Given the description of an element on the screen output the (x, y) to click on. 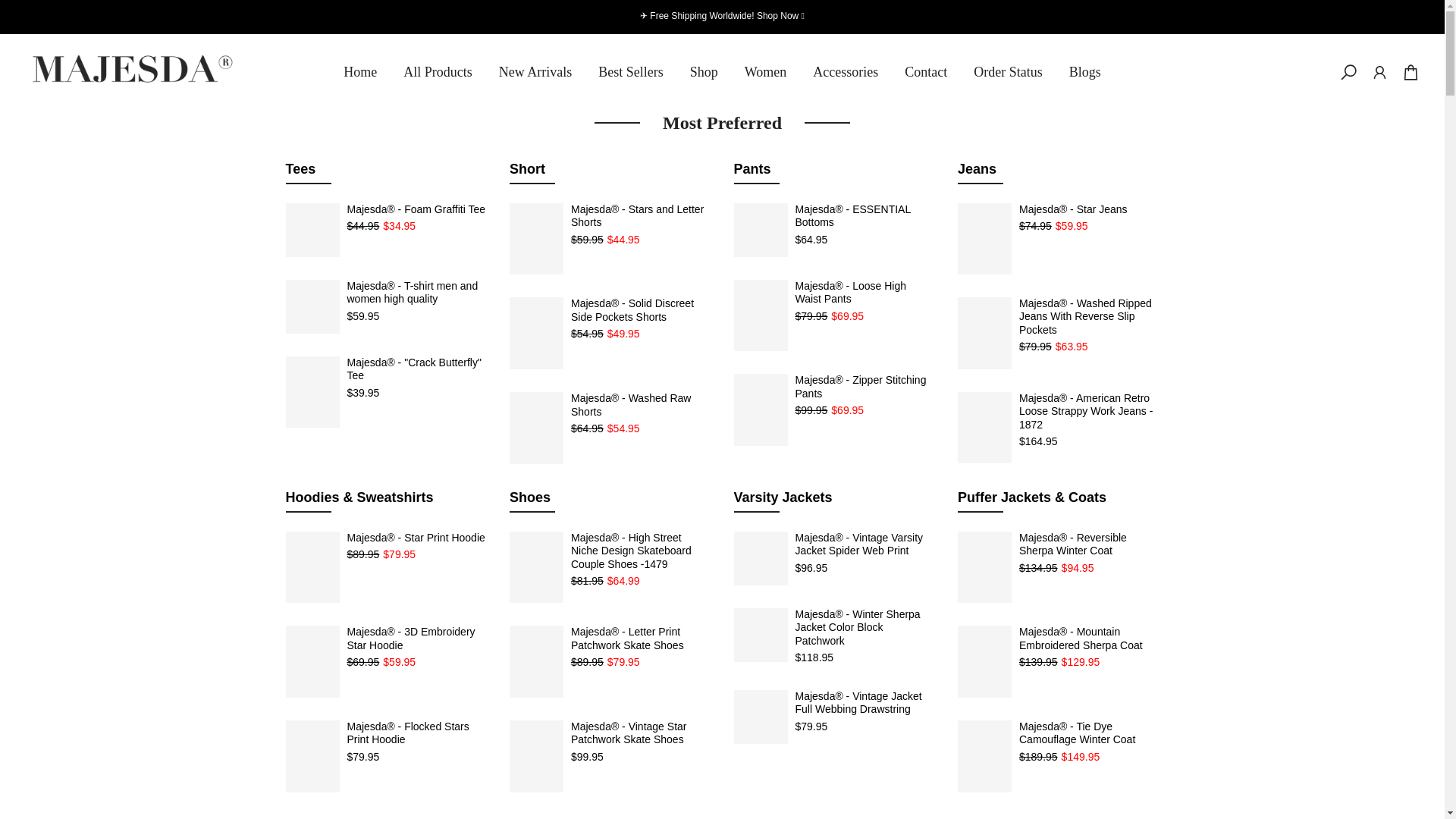
Shop (703, 71)
Contact (925, 71)
Home (360, 71)
Women (764, 71)
New Arrivals (534, 71)
Accessories (845, 71)
Skip to content (10, 7)
Blogs (1084, 71)
Order Status (1007, 71)
All Products (438, 71)
Best Sellers (631, 71)
